Given the description of an element on the screen output the (x, y) to click on. 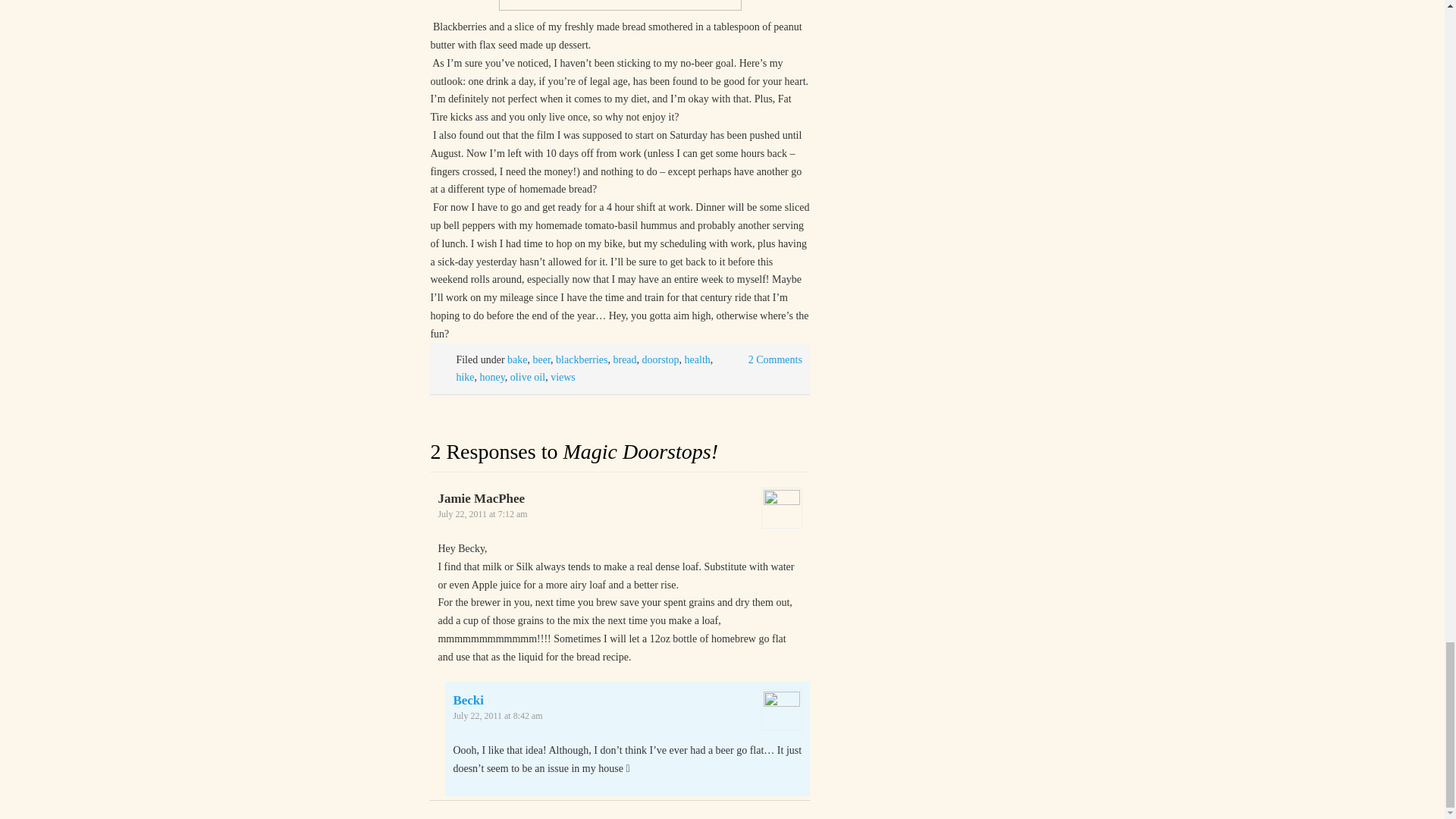
olive oil (527, 377)
beer (541, 359)
hike (464, 377)
2 Comments (775, 359)
bread (624, 359)
blackberries (581, 359)
July 22, 2011 at 8:42 am (496, 715)
bake (516, 359)
health (697, 359)
doorstop (660, 359)
Becki (467, 699)
views (562, 377)
July 22, 2011 at 7:12 am (482, 513)
honey (492, 377)
